Given the description of an element on the screen output the (x, y) to click on. 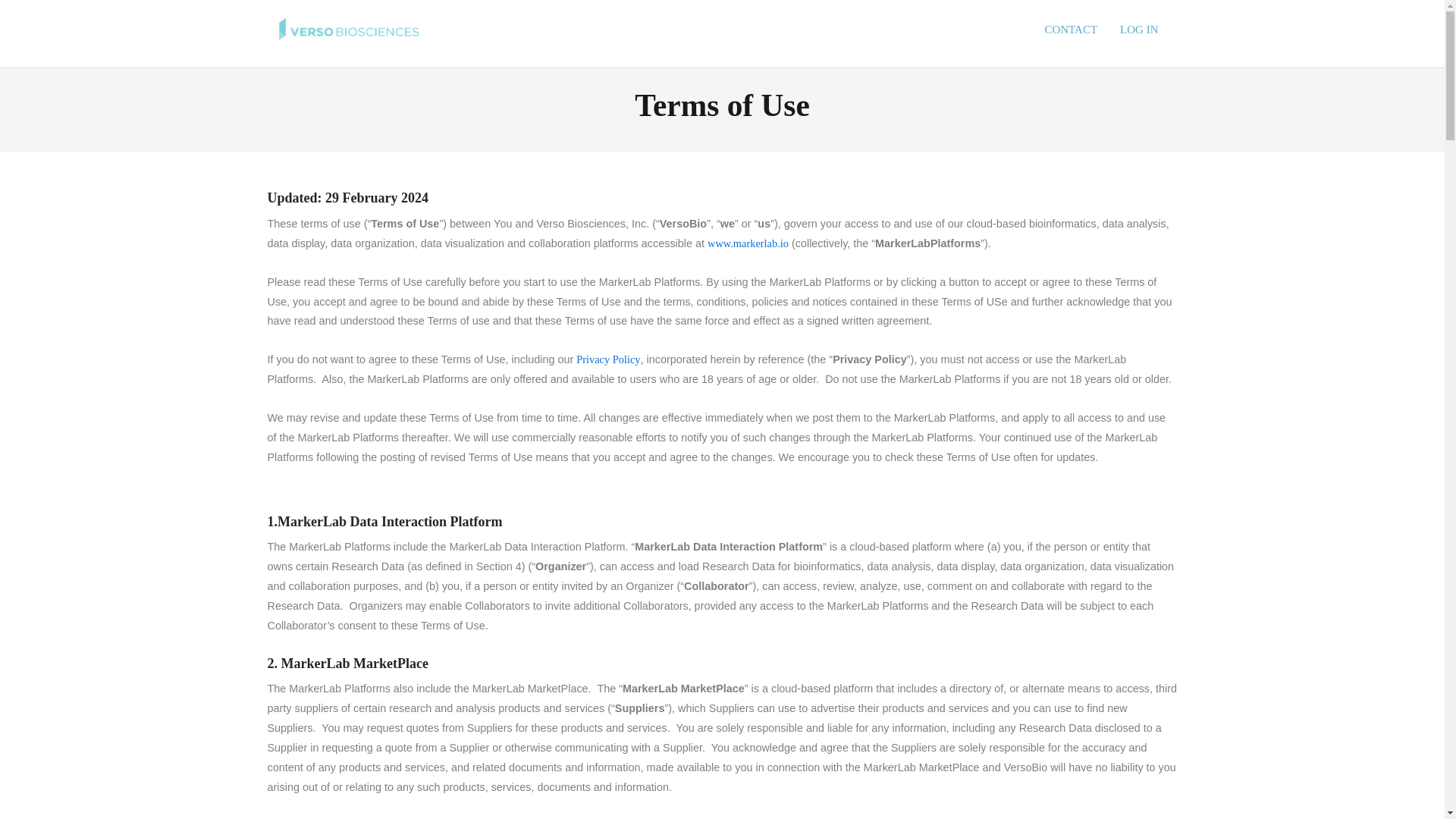
CONTACT (1070, 29)
LOG IN (1138, 29)
www.markerlab.io (748, 243)
Privacy Policy (608, 358)
